Given the description of an element on the screen output the (x, y) to click on. 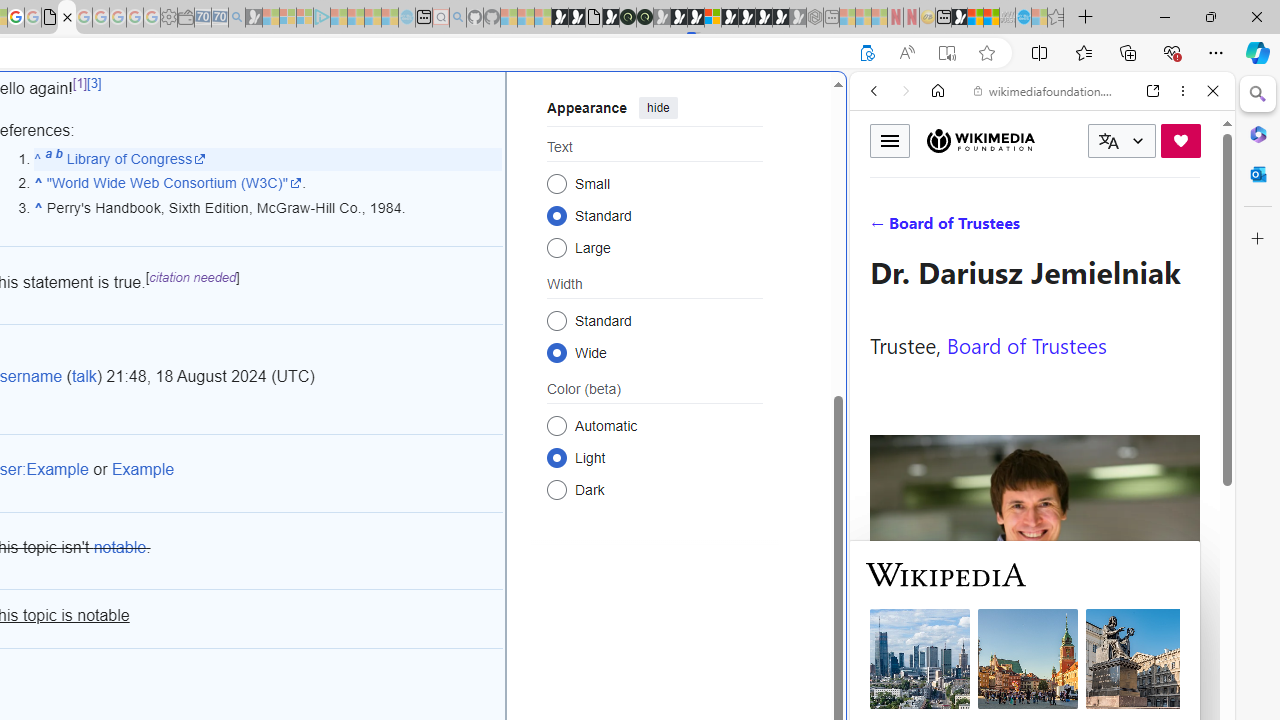
Future Focus Report 2024 (644, 17)
Help:Cheatsheet - Wikipedia (66, 17)
[3] (94, 84)
Wiktionary (1034, 669)
Services - Maintenance | Sky Blue Bikes - Sky Blue Bikes (1023, 17)
